Given the description of an element on the screen output the (x, y) to click on. 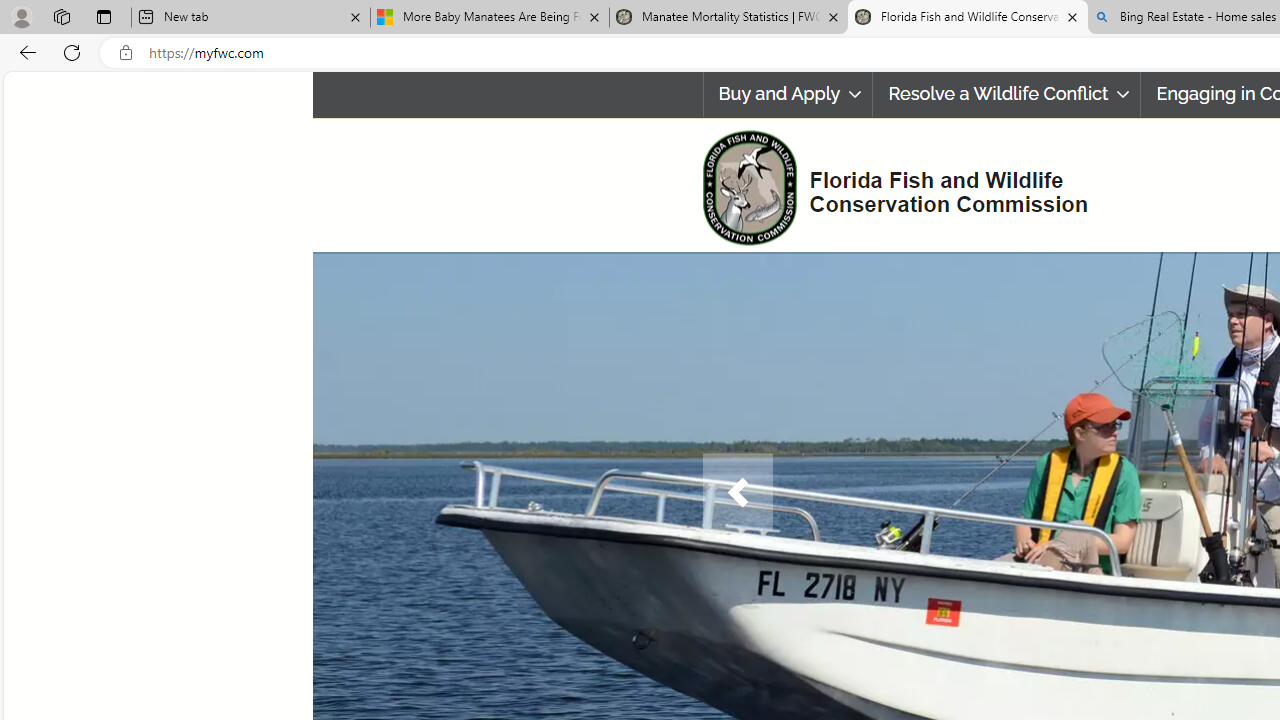
Back (24, 52)
New tab (250, 17)
Resolve a Wildlife Conflict (1006, 94)
Close tab (1072, 16)
Workspaces (61, 16)
Buy and Apply (787, 94)
Buy and Apply (787, 94)
FWC Logo Florida Fish and Wildlife Conservation Commission (886, 185)
Personal Profile (21, 16)
Resolve a Wildlife Conflict (1006, 94)
Florida Fish and Wildlife Conservation Commission | FWC (967, 17)
Previous (737, 491)
FWC Logo (749, 187)
Manatee Mortality Statistics | FWC (729, 17)
